Given the description of an element on the screen output the (x, y) to click on. 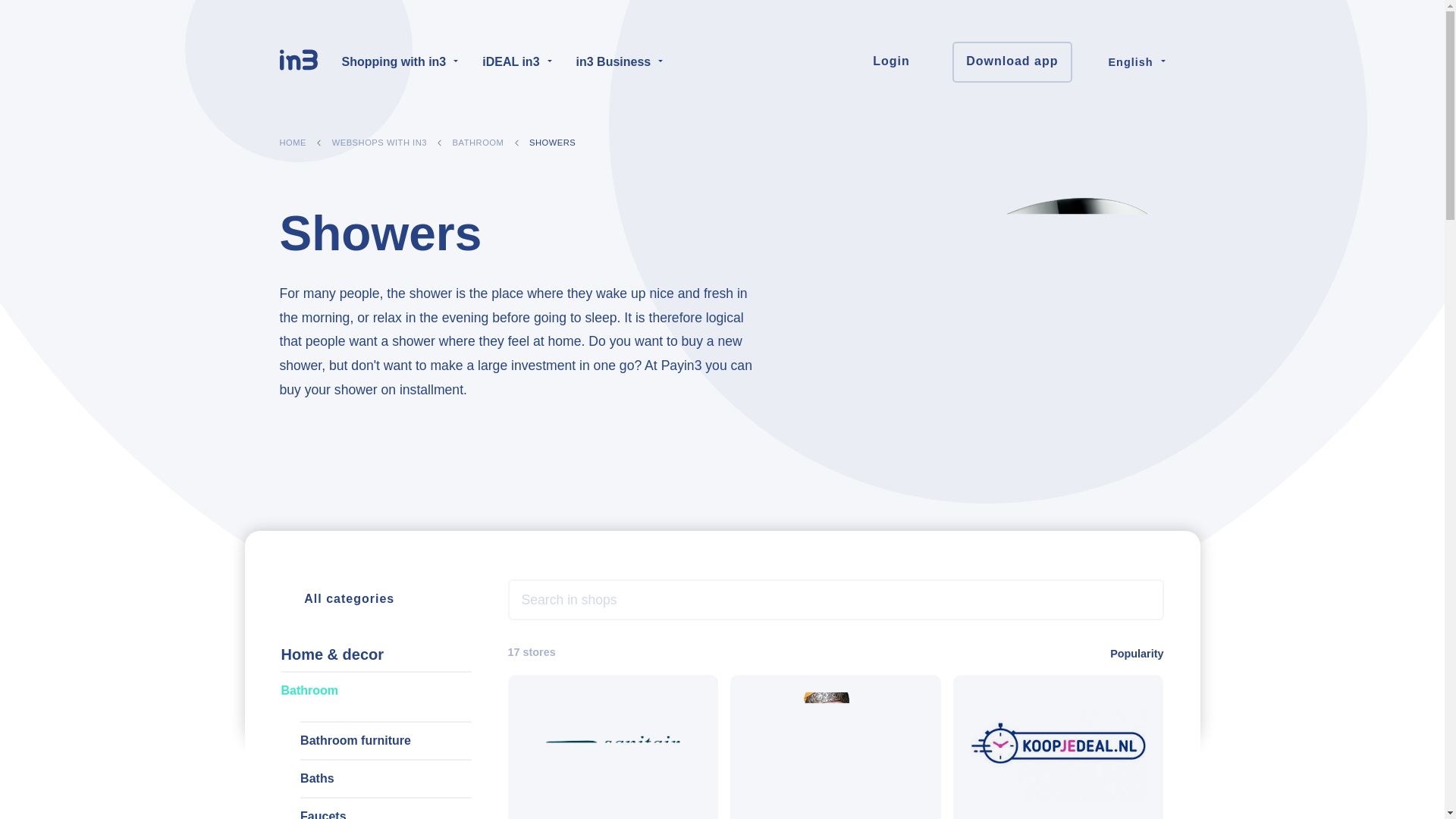
Login (901, 61)
English (1131, 61)
Shopping with in3 (399, 62)
in3 Business (619, 62)
Download app (1011, 61)
iDEAL in3 (516, 62)
